Given the description of an element on the screen output the (x, y) to click on. 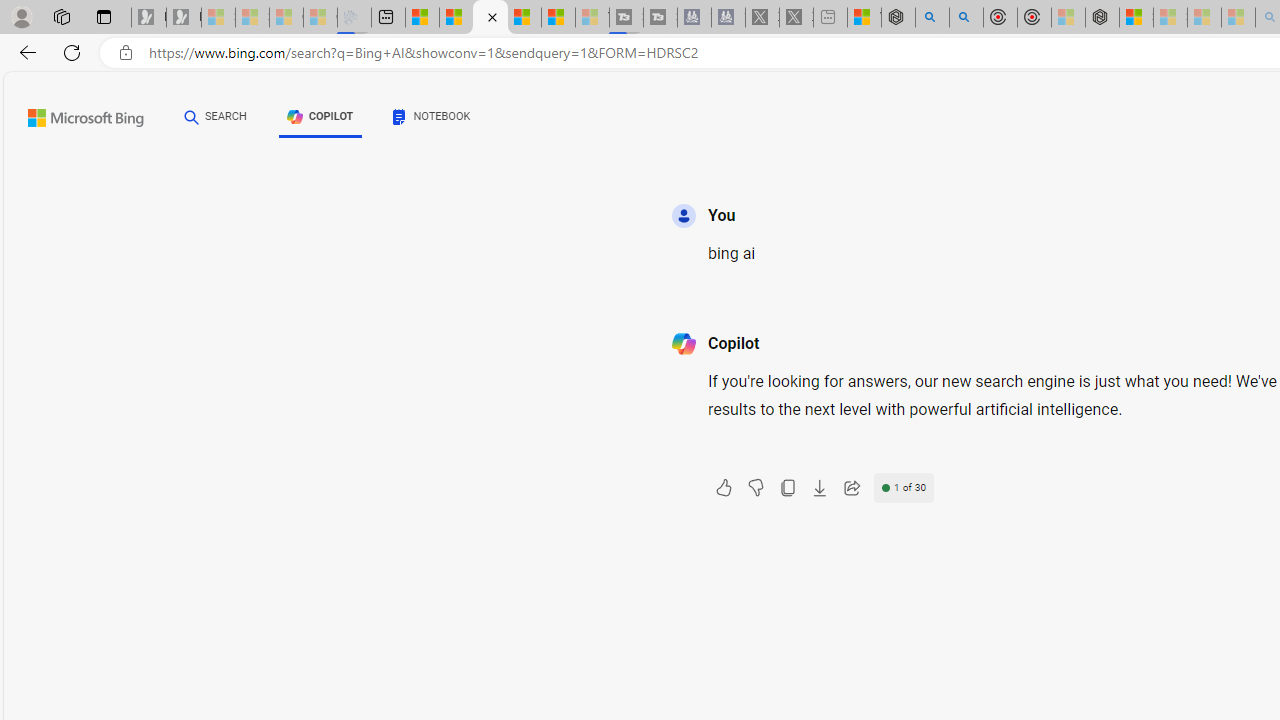
Export (819, 487)
Chat (191, 116)
Newsletter Sign Up - Sleeping (183, 17)
COPILOT (319, 116)
Copy (787, 487)
COPILOT (319, 120)
